Given the description of an element on the screen output the (x, y) to click on. 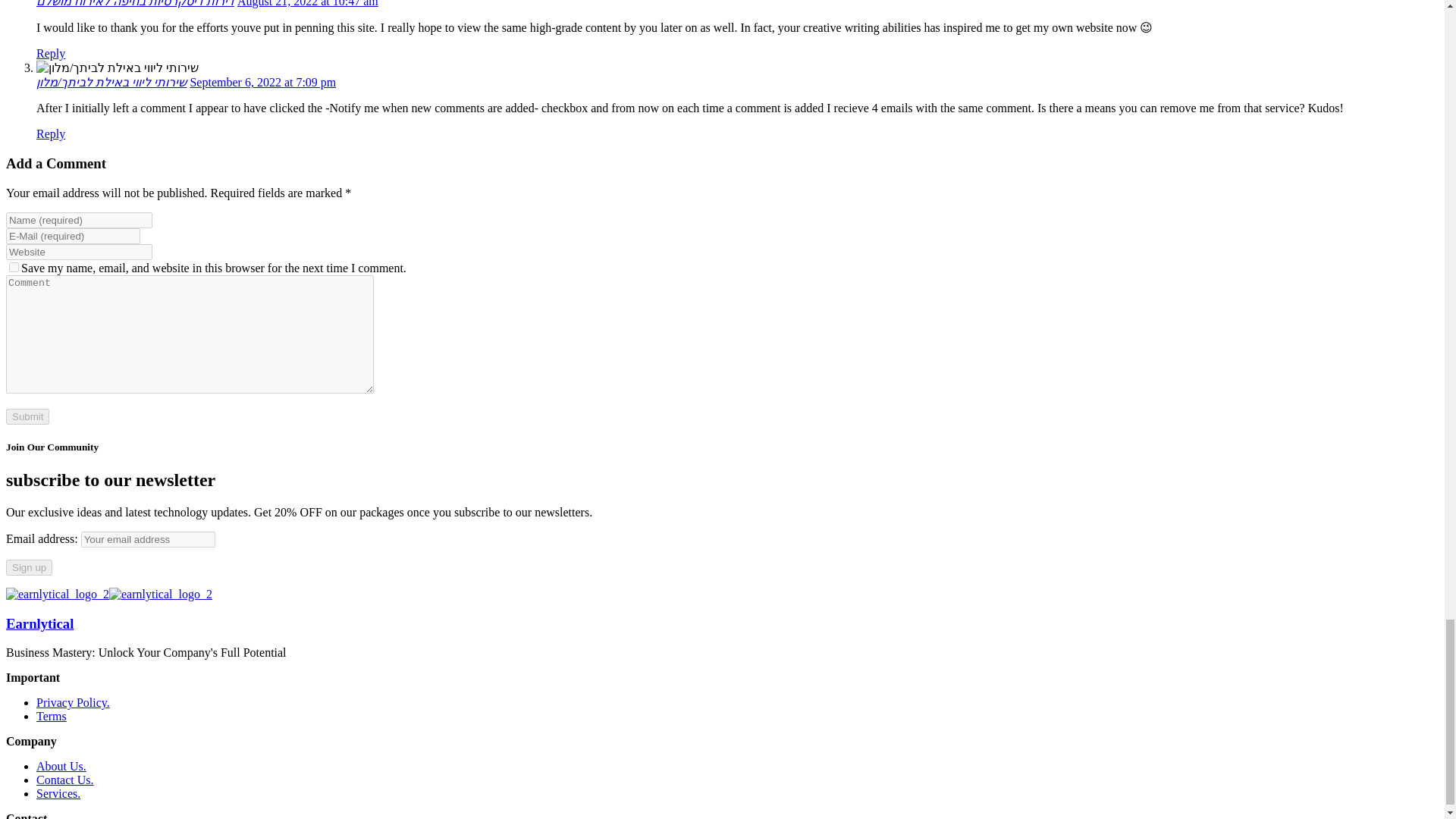
Reply (50, 52)
Reply (50, 133)
Earnlytical (57, 594)
Submit (27, 416)
September 6, 2022 at 7:09 pm (262, 82)
yes (13, 266)
Sign up (28, 567)
Privacy Policy. (73, 702)
August 21, 2022 at 10:47 am (307, 3)
Earnlytical (39, 623)
